Given the description of an element on the screen output the (x, y) to click on. 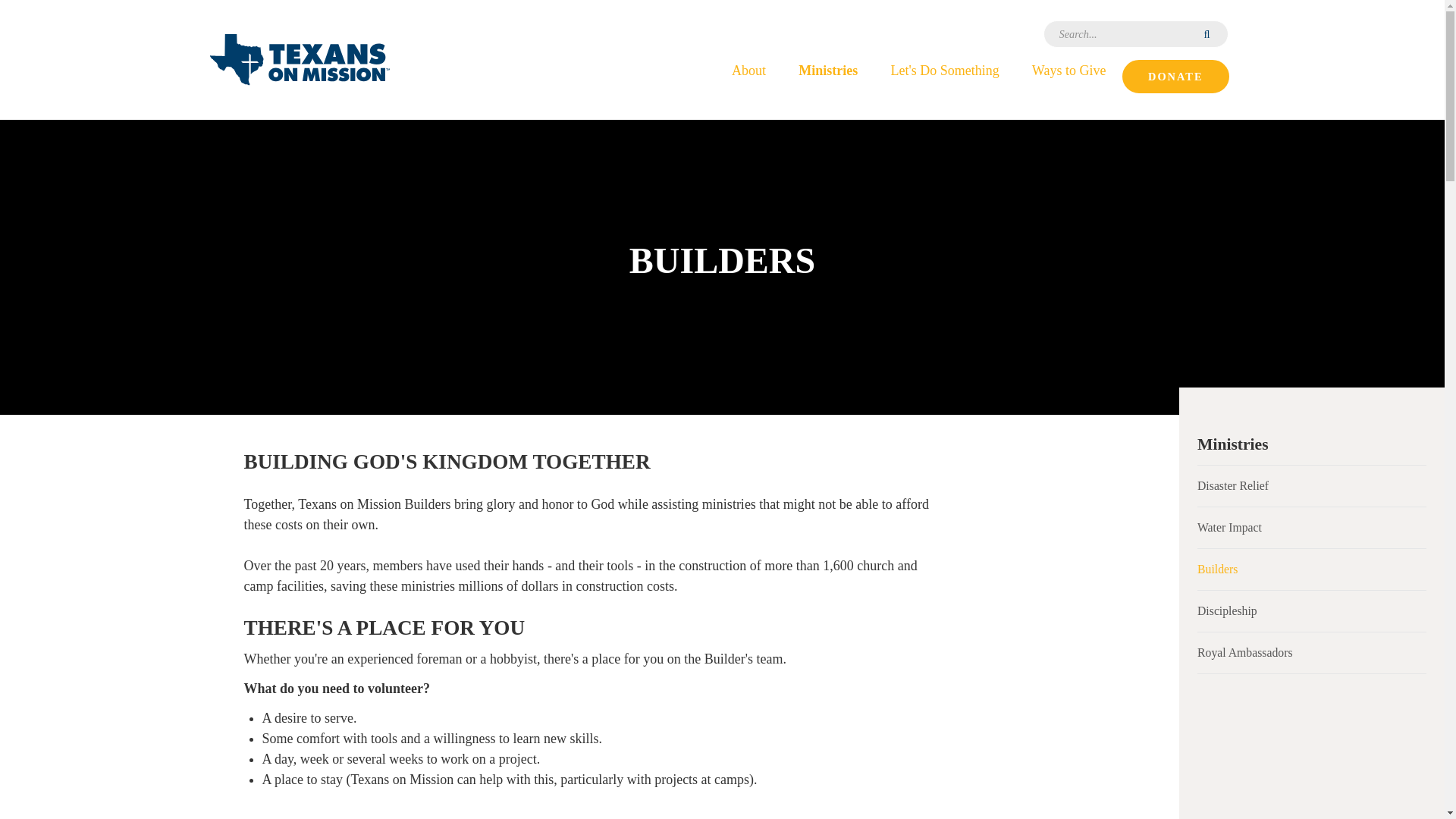
SEARCH (1208, 33)
Disaster Relief (1311, 486)
Water Impact (1311, 526)
Ministries (1311, 444)
About (747, 68)
Ministries (829, 68)
DONATE (1175, 76)
Royal Ambassadors (1311, 652)
Ways to Give (1068, 68)
Let's Do Something (944, 68)
Builders (1311, 568)
Discipleship (1311, 610)
